Given the description of an element on the screen output the (x, y) to click on. 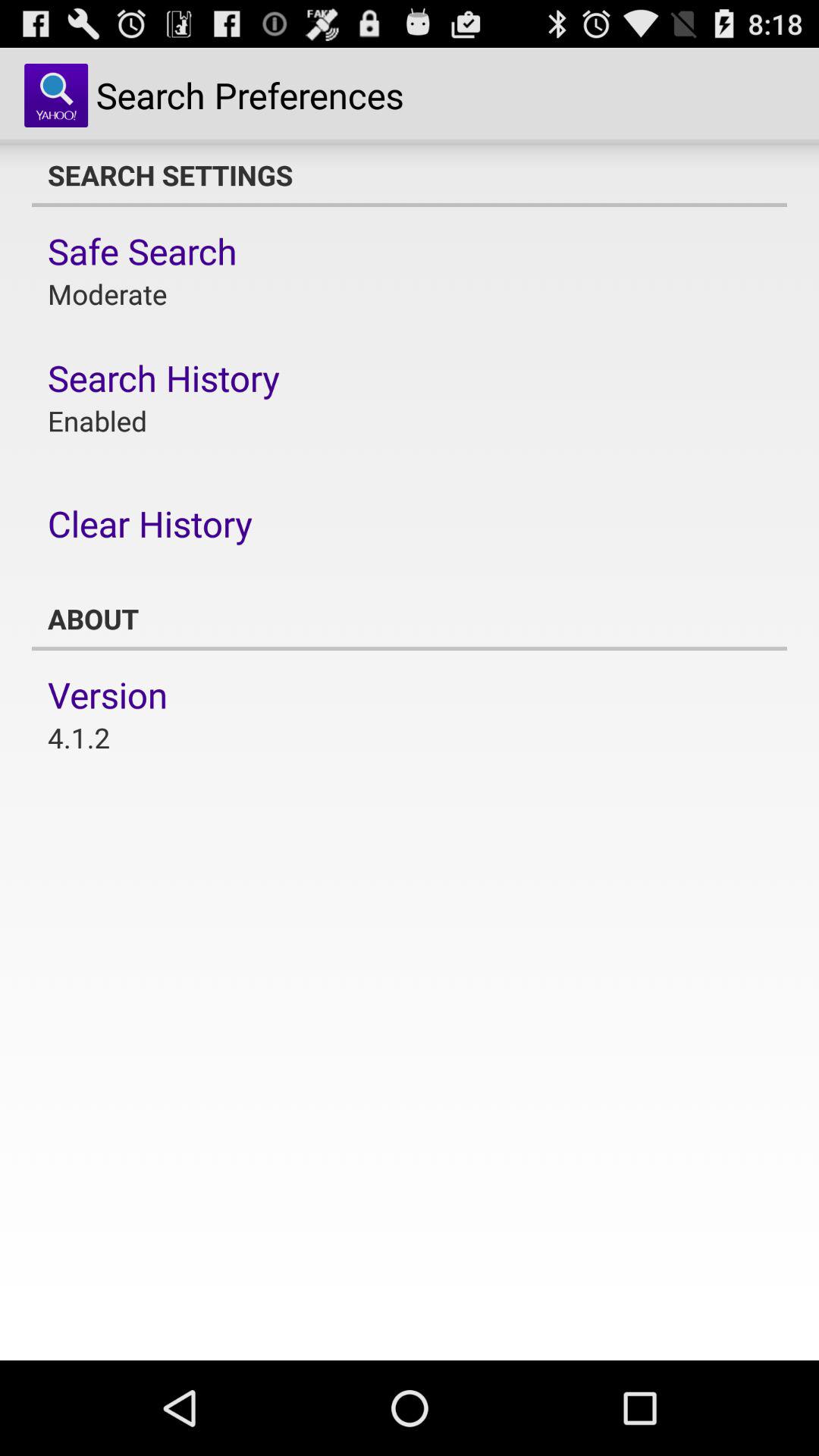
launch the about icon (409, 618)
